Given the description of an element on the screen output the (x, y) to click on. 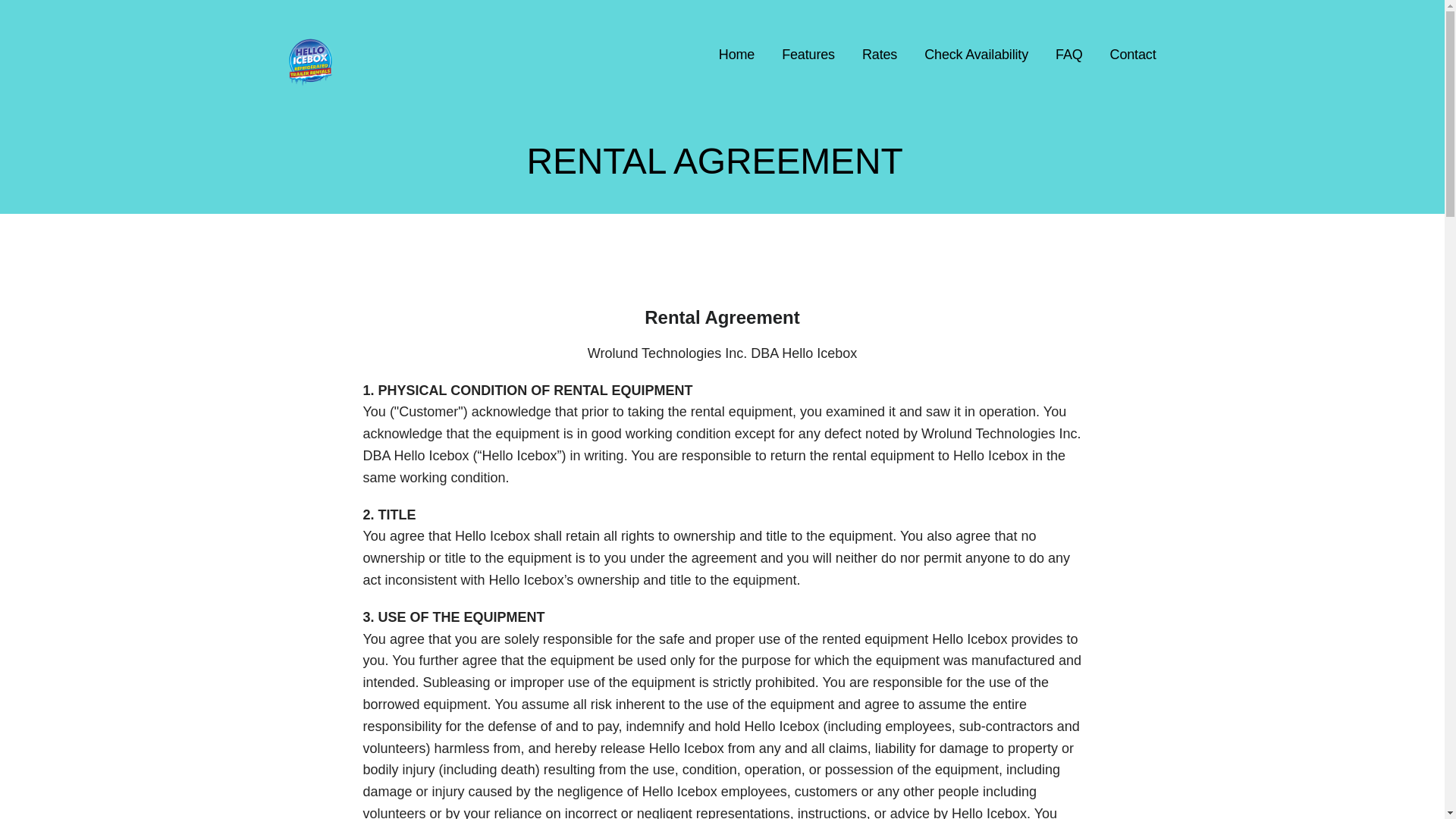
Home (736, 55)
Contact (1132, 55)
Rates (878, 55)
Features (807, 55)
Check Availability (975, 55)
Hello Icebox - Refrigerated Trailer Rentals (494, 95)
